Given the description of an element on the screen output the (x, y) to click on. 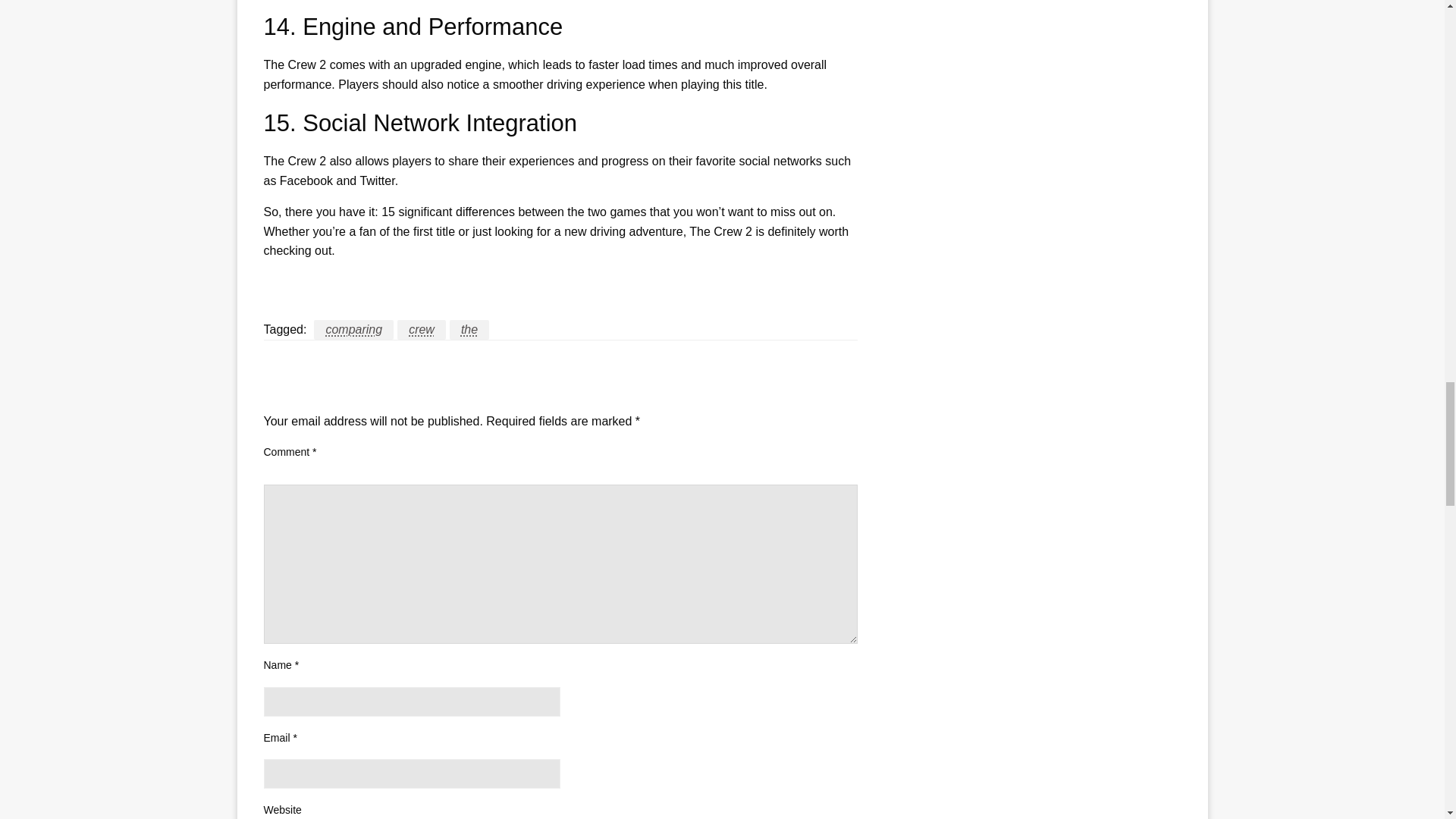
comparing (353, 329)
the (469, 329)
crew (421, 329)
